Given the description of an element on the screen output the (x, y) to click on. 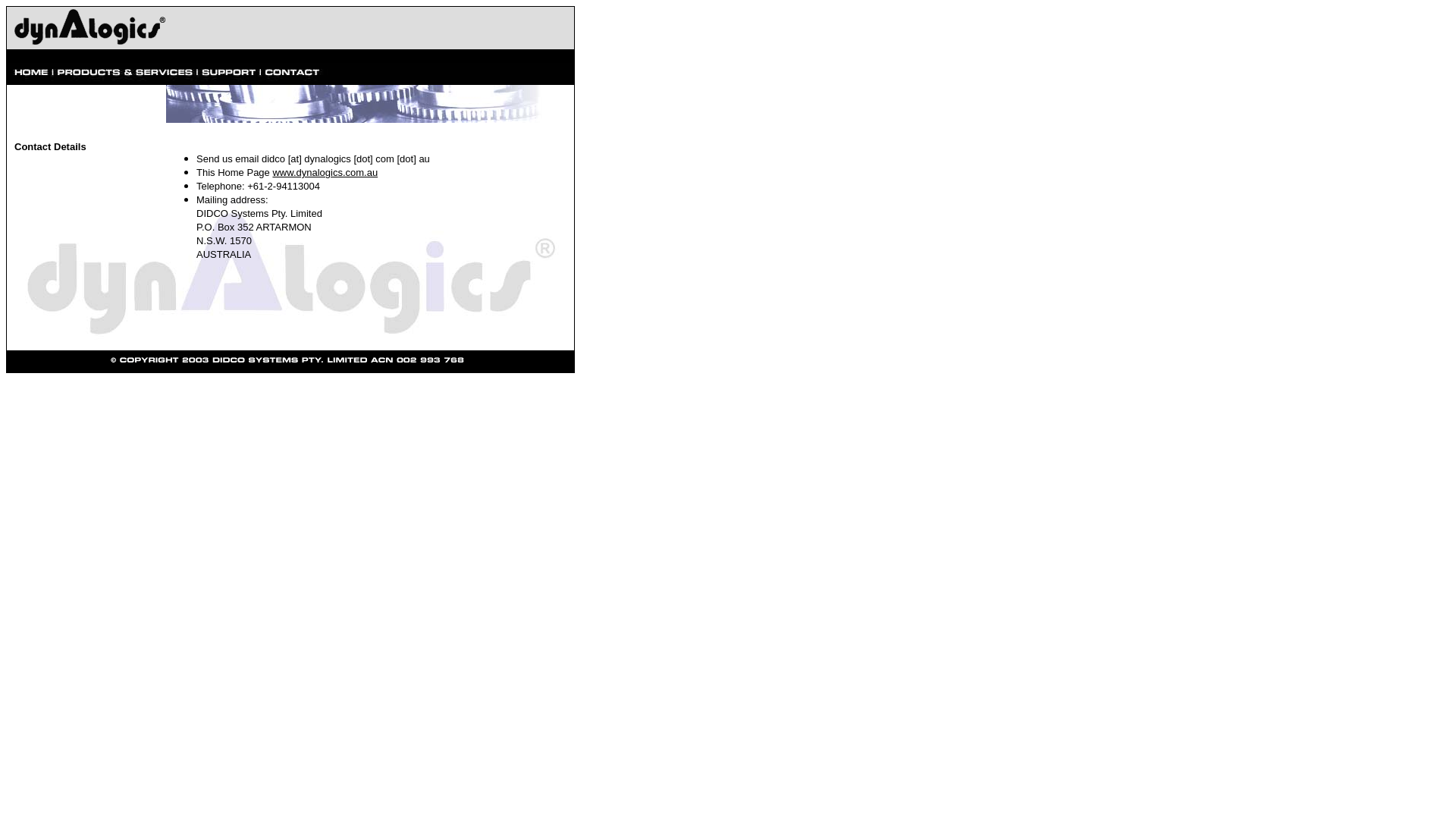
www.dynalogics.com.au Element type: text (324, 172)
